Given the description of an element on the screen output the (x, y) to click on. 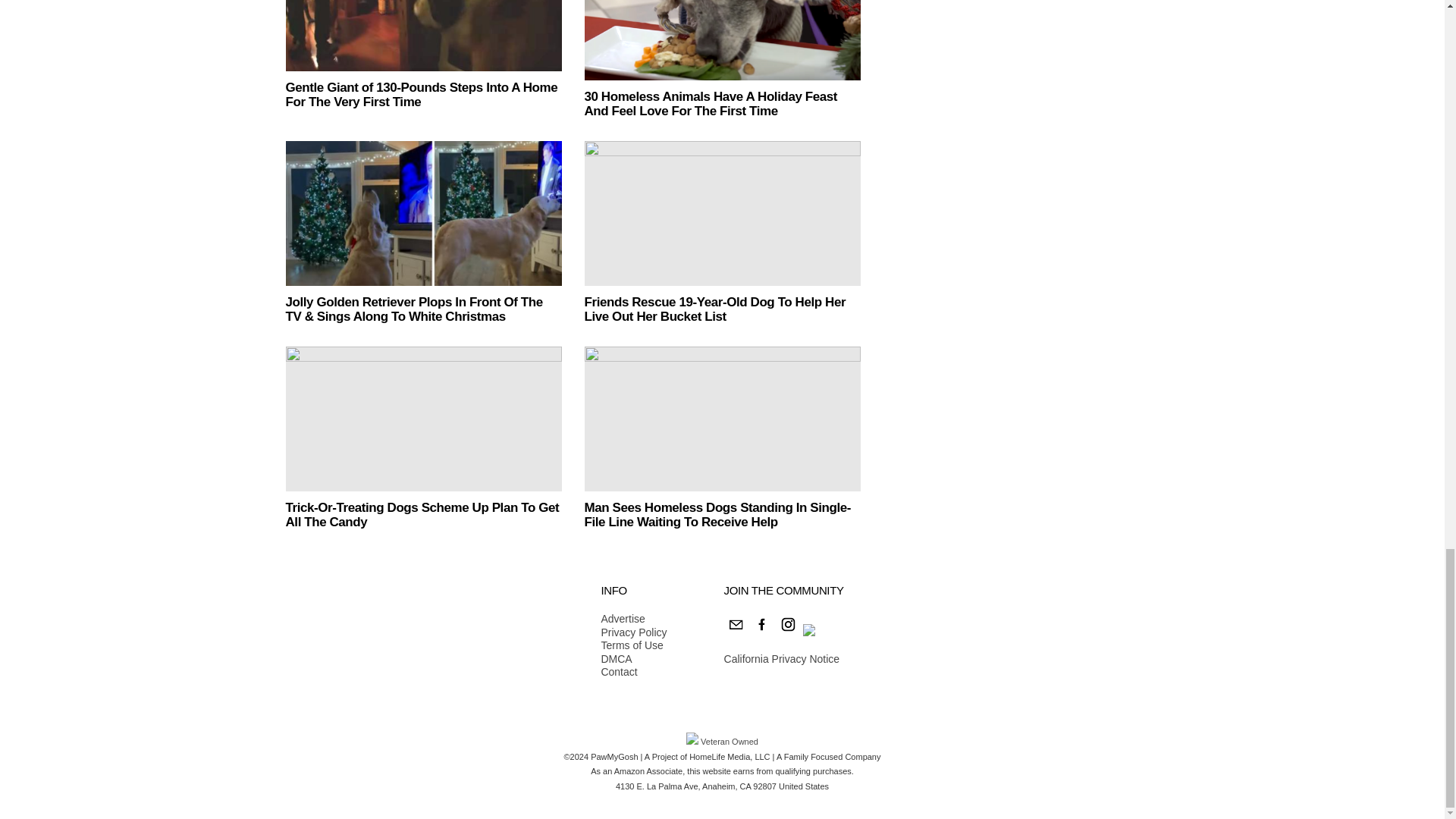
Advertise (632, 619)
Trick-Or-Treating Dogs Scheme Up Plan To Get All The Candy (422, 514)
DMCA (632, 659)
Terms of Use (632, 645)
Contact (632, 672)
